Given the description of an element on the screen output the (x, y) to click on. 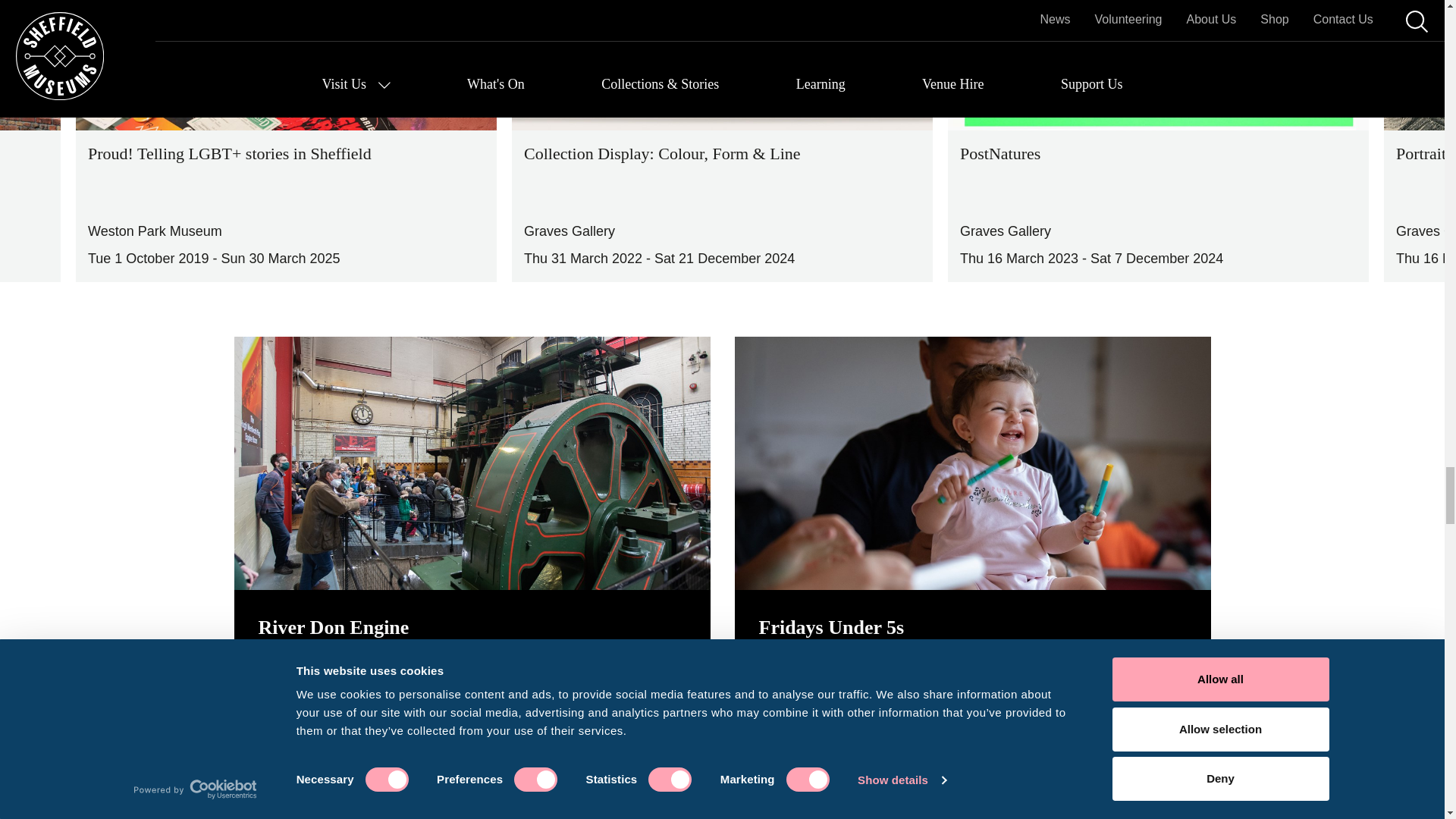
Fridays Under 5s  - Find out more (825, 778)
River Don Engine - Find out more (325, 778)
